Given the description of an element on the screen output the (x, y) to click on. 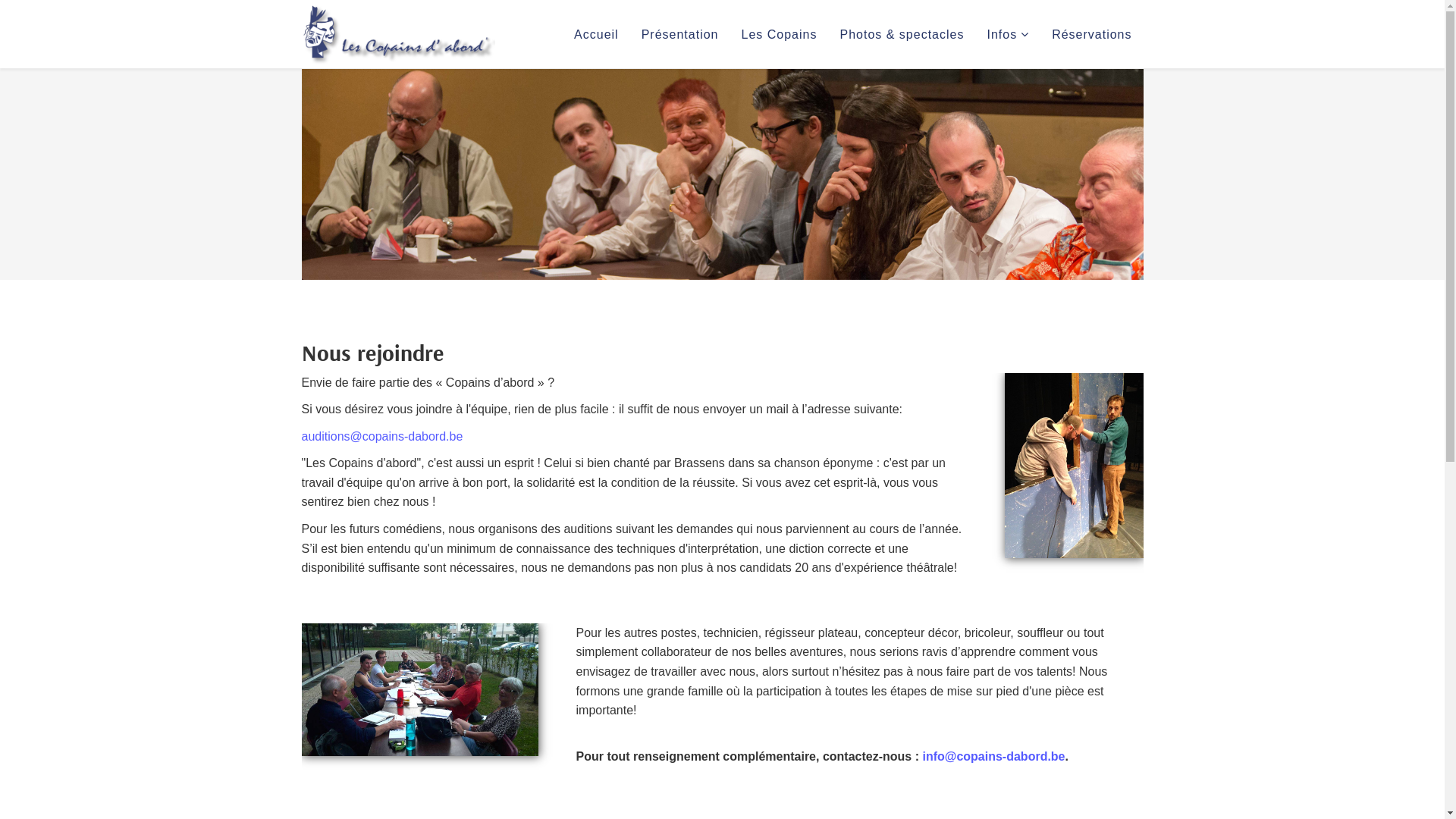
info@copains-dabord.be Element type: text (993, 755)
Infos Element type: text (1007, 34)
Accueil Element type: text (596, 34)
Photos & spectacles Element type: text (901, 34)
auditions@copains-dabord.be Element type: text (382, 435)
Les Copains Element type: text (779, 34)
